Given the description of an element on the screen output the (x, y) to click on. 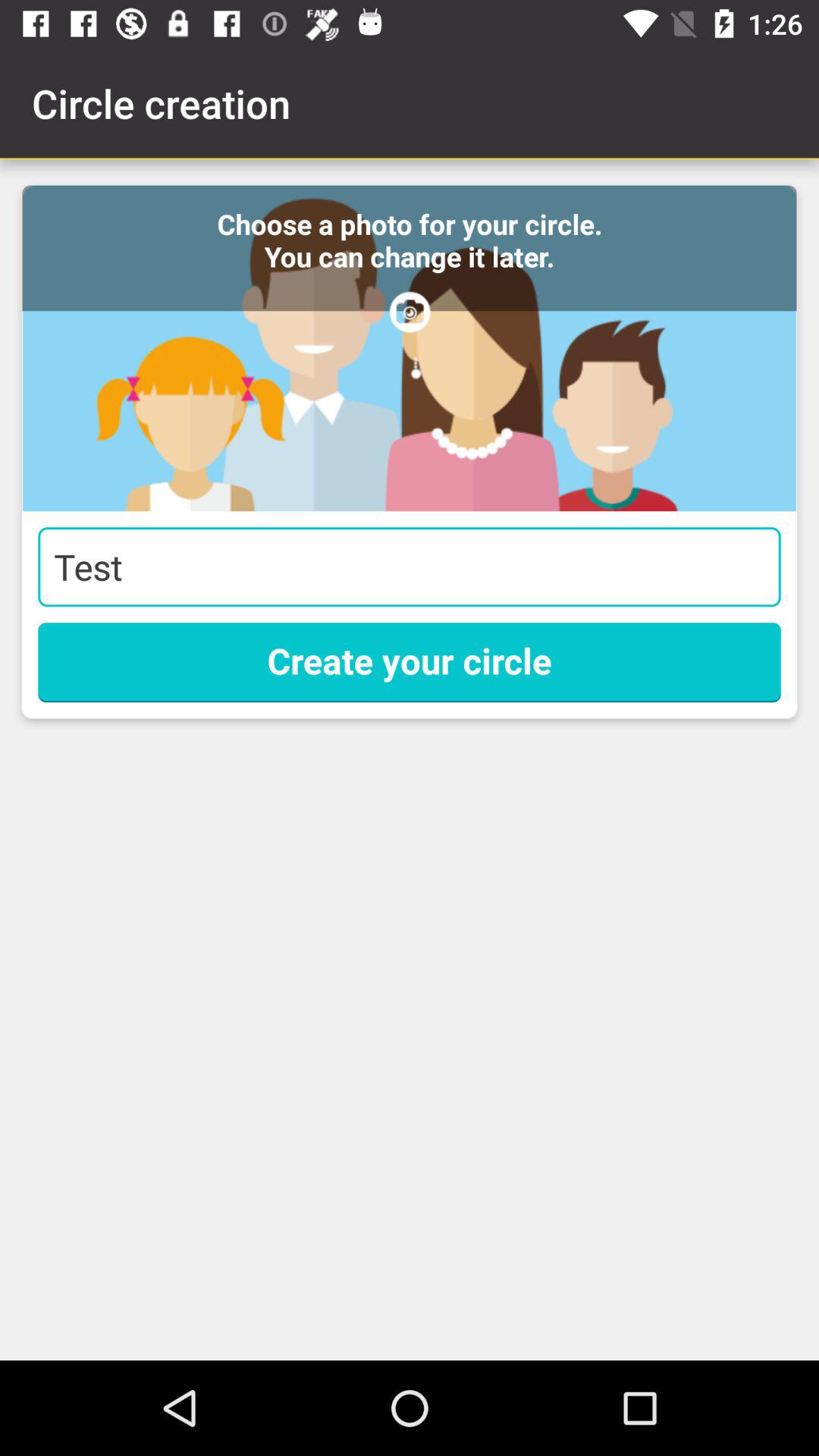
tap item above the create your circle item (409, 566)
